Given the description of an element on the screen output the (x, y) to click on. 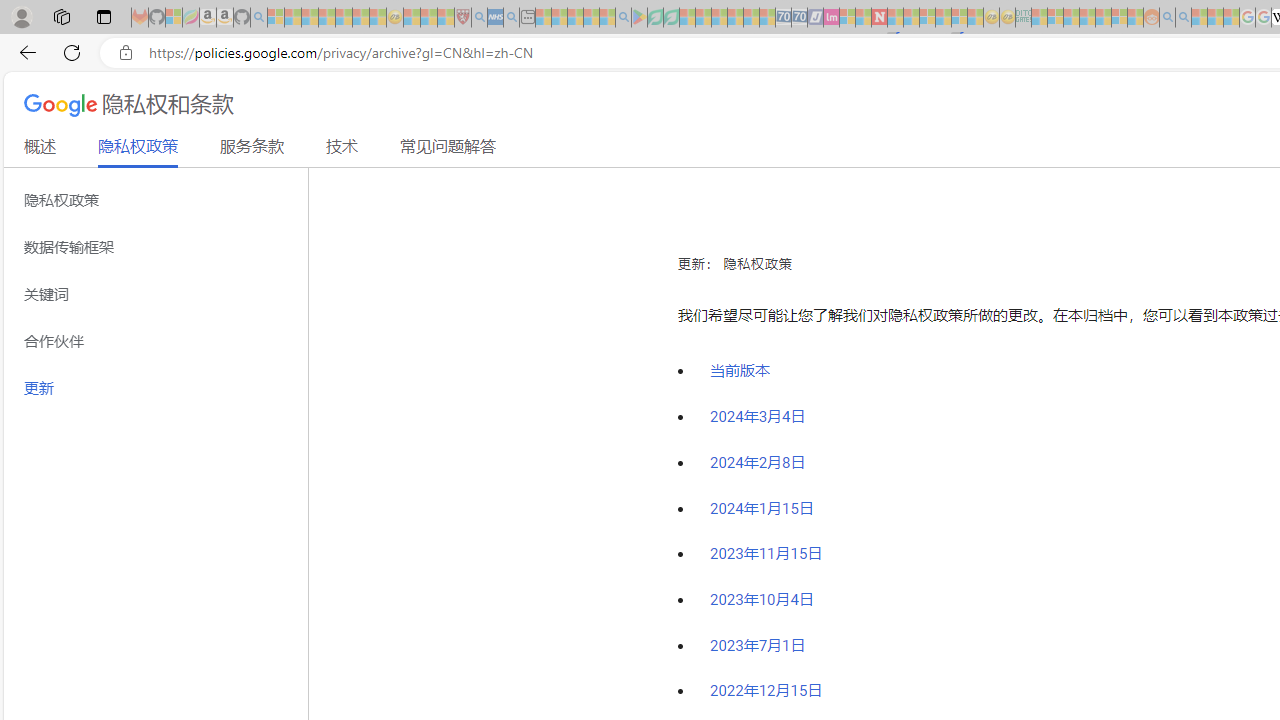
Bluey: Let's Play! - Apps on Google Play - Sleeping (639, 17)
Terms of Use Agreement - Sleeping (655, 17)
Cheap Hotels - Save70.com - Sleeping (799, 17)
